Given the description of an element on the screen output the (x, y) to click on. 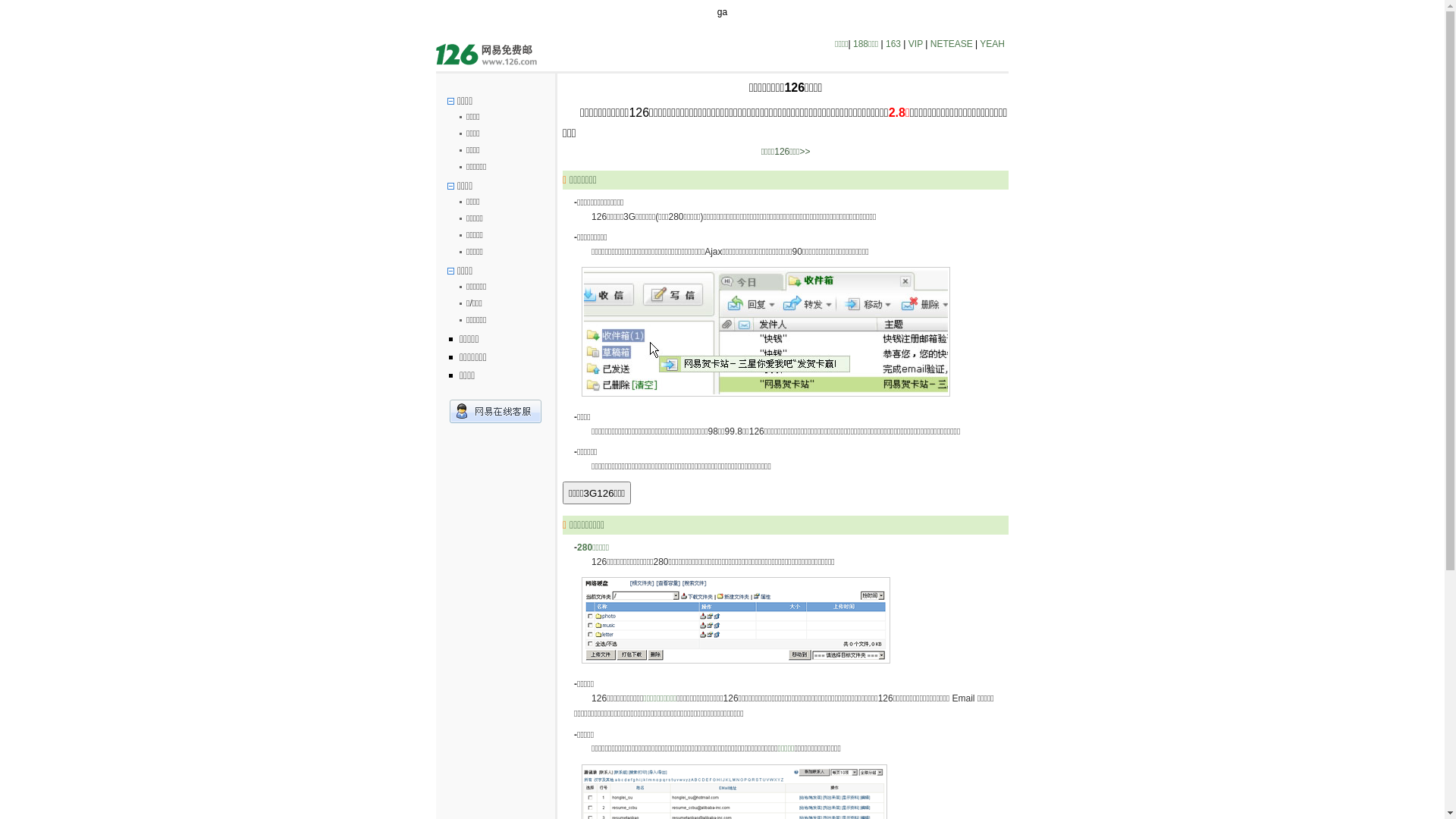
VIP Element type: text (915, 43)
NETEASE Element type: text (951, 43)
YEAH Element type: text (991, 43)
163 Element type: text (892, 43)
